Given the description of an element on the screen output the (x, y) to click on. 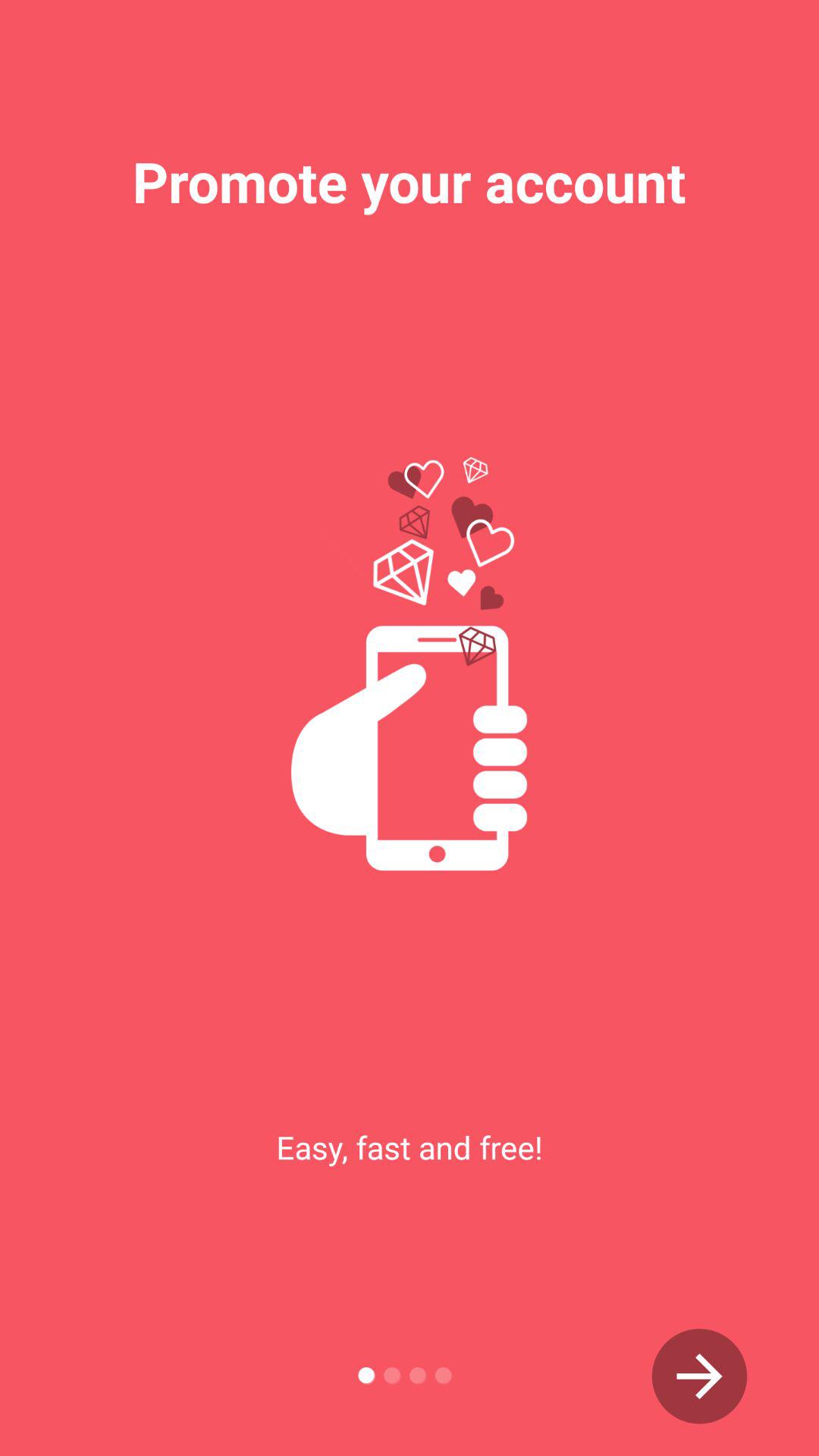
open icon at the bottom right corner (699, 1376)
